Given the description of an element on the screen output the (x, y) to click on. 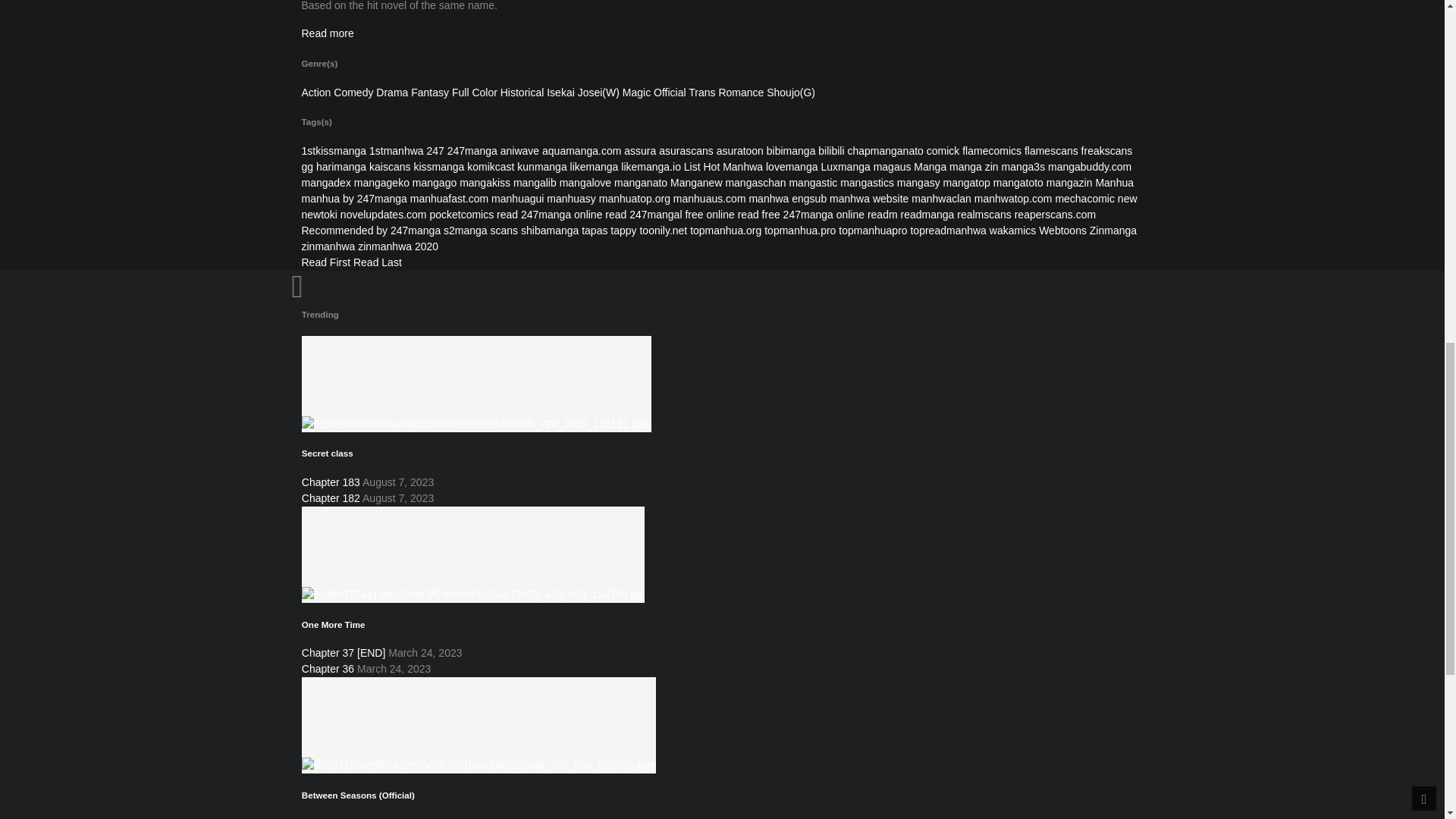
One More Time (473, 553)
Secret class (327, 452)
Read more (328, 33)
Full Color (474, 92)
Secret class (476, 382)
One More Time (333, 624)
Drama (391, 92)
Official Trans (683, 92)
Isekai (561, 92)
247 (435, 150)
Action (316, 92)
Comedy (352, 92)
Magic (636, 92)
Romance (739, 92)
Historical (522, 92)
